Given the description of an element on the screen output the (x, y) to click on. 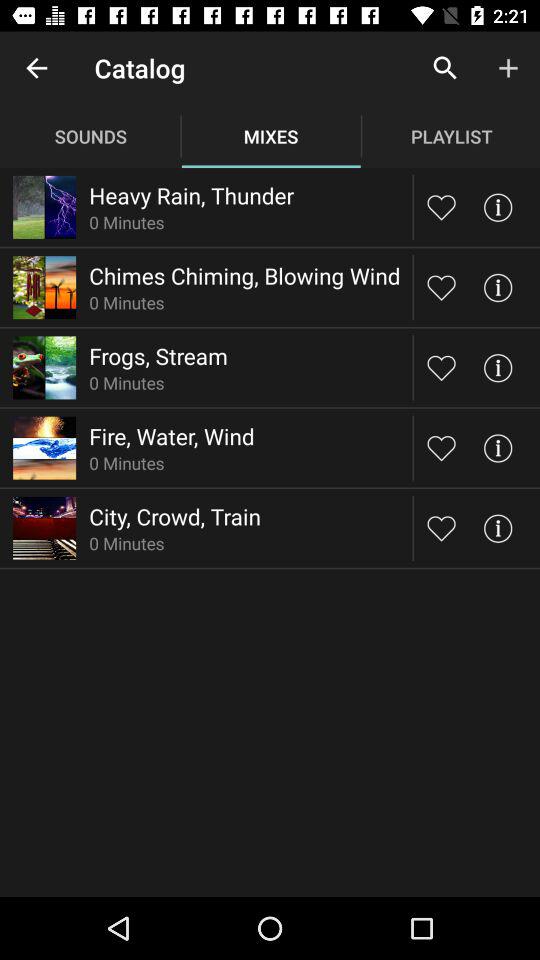
choose the icon above the sounds item (36, 68)
